Given the description of an element on the screen output the (x, y) to click on. 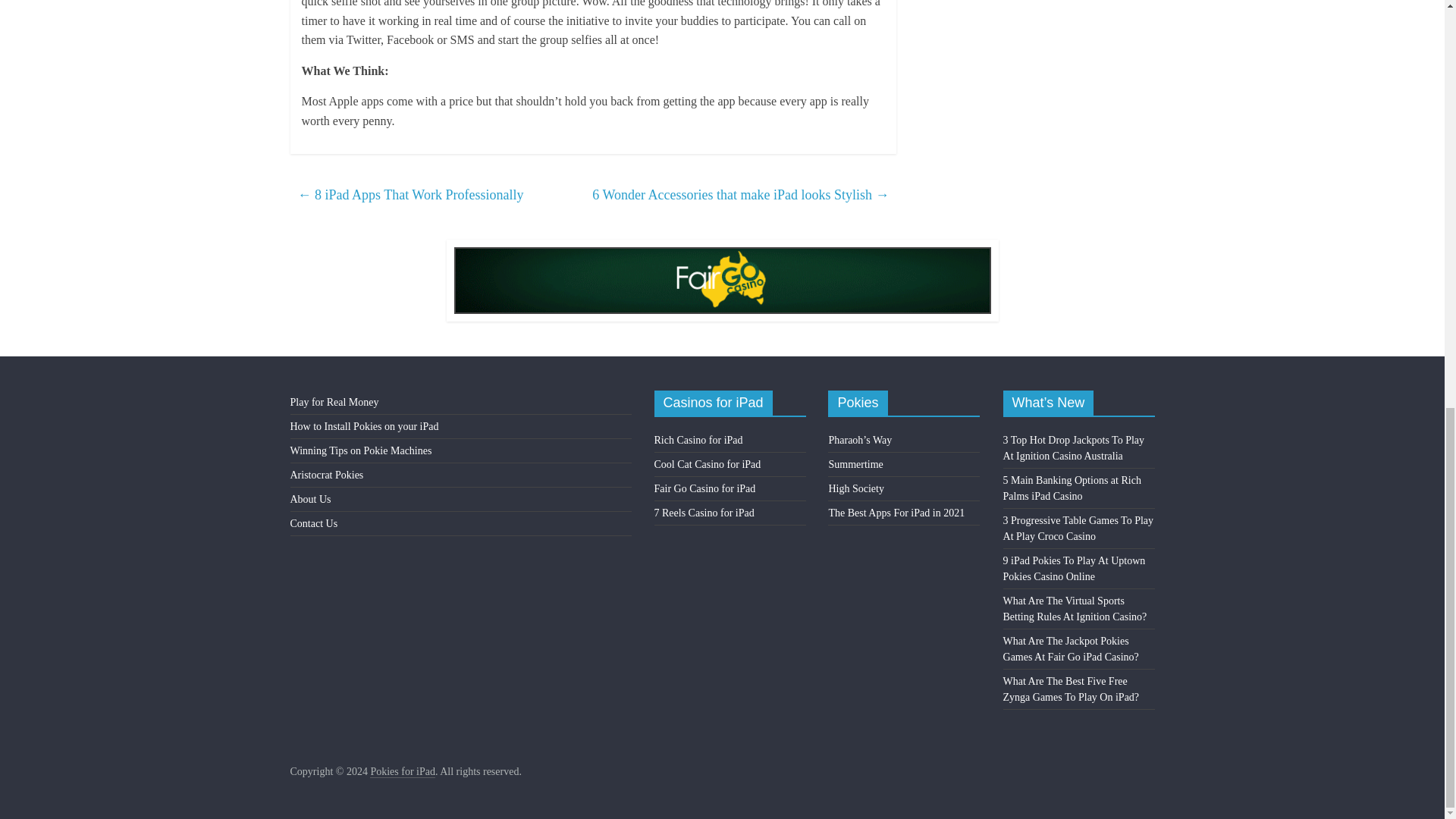
About Us (309, 499)
Contact Us (313, 523)
How to Install Pokies on your iPad (363, 426)
7 Reels Casino for iPad (703, 512)
9 iPad Pokies To Play At Uptown Pokies Casino Online (1074, 568)
Rich Casino for iPad (697, 439)
Cool Cat Casino for iPad (707, 464)
5 Main Banking Options at Rich Palms iPad Casino (1072, 488)
High Society (855, 488)
The Best Apps For iPad in 2021 (895, 512)
3 Progressive Table Games To Play At Play Croco Casino (1078, 528)
Pokies for iPad (402, 771)
Aristocrat Pokies (325, 474)
Winning Tips on Pokie Machines (359, 450)
3 Top Hot Drop Jackpots To Play At Ignition Casino Australia (1073, 447)
